Given the description of an element on the screen output the (x, y) to click on. 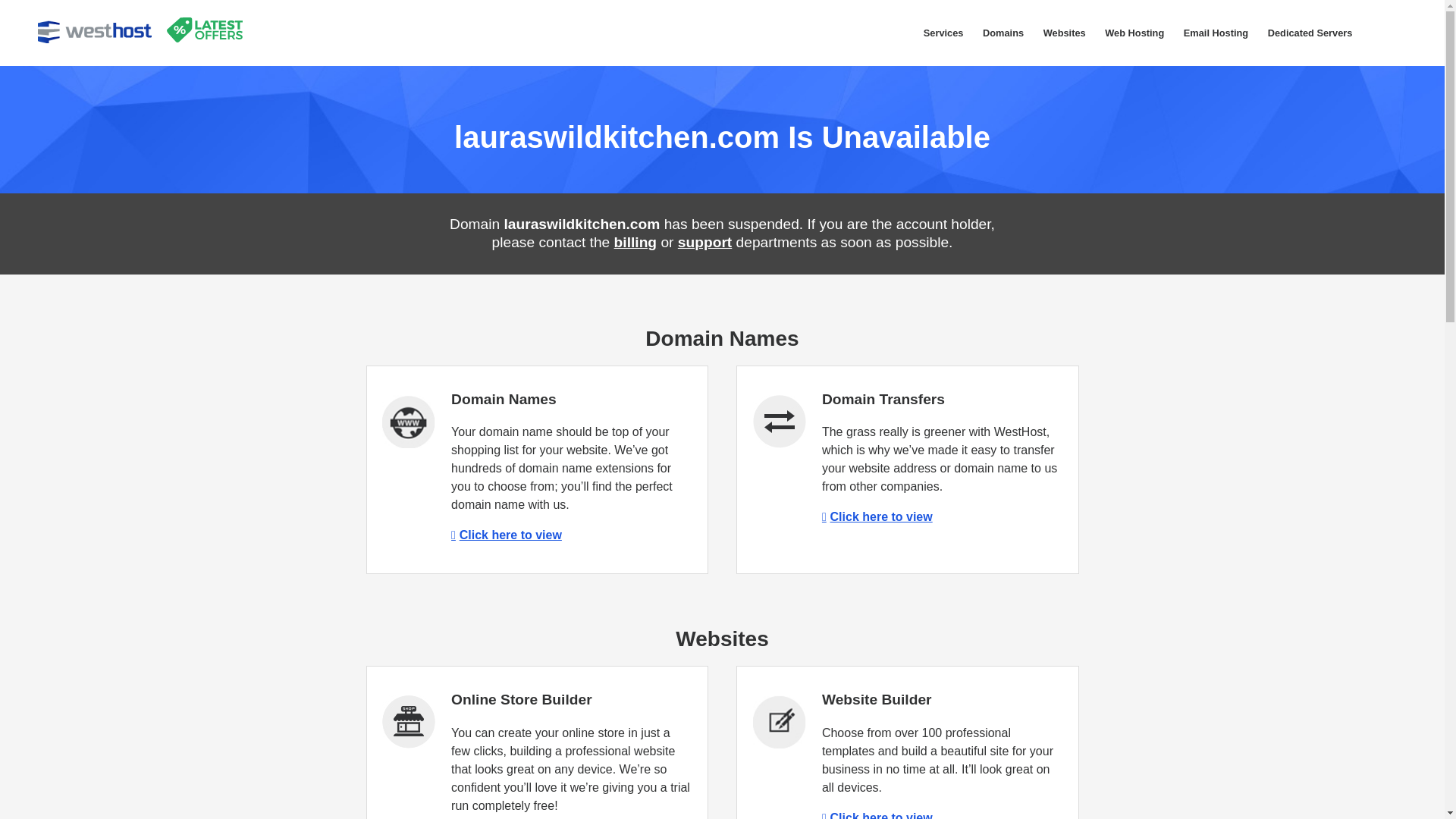
Click here to view (506, 534)
billing (636, 242)
Email Hosting (1215, 32)
Websites (1064, 32)
Click here to view (877, 815)
Domains (1002, 32)
support (705, 242)
Services (943, 32)
Dedicated Servers (1309, 32)
Web Hosting (1133, 32)
Click here to view (877, 516)
